Given the description of an element on the screen output the (x, y) to click on. 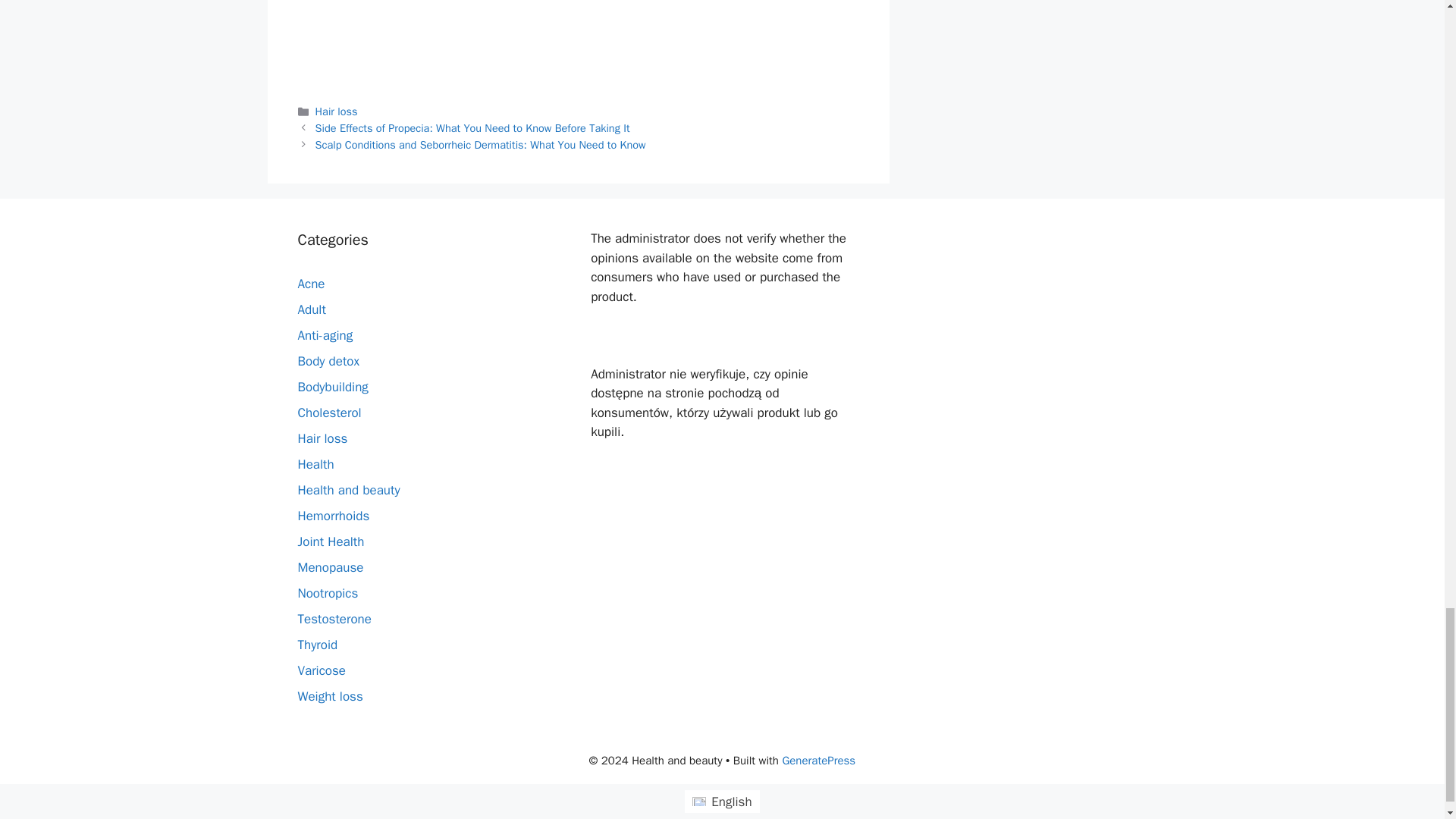
Bodybuilding (332, 386)
Body detox (327, 360)
Hair loss (322, 438)
Anti-aging (324, 335)
Cholesterol (329, 412)
Adult (310, 309)
Hair loss (336, 110)
Acne (310, 283)
